Given the description of an element on the screen output the (x, y) to click on. 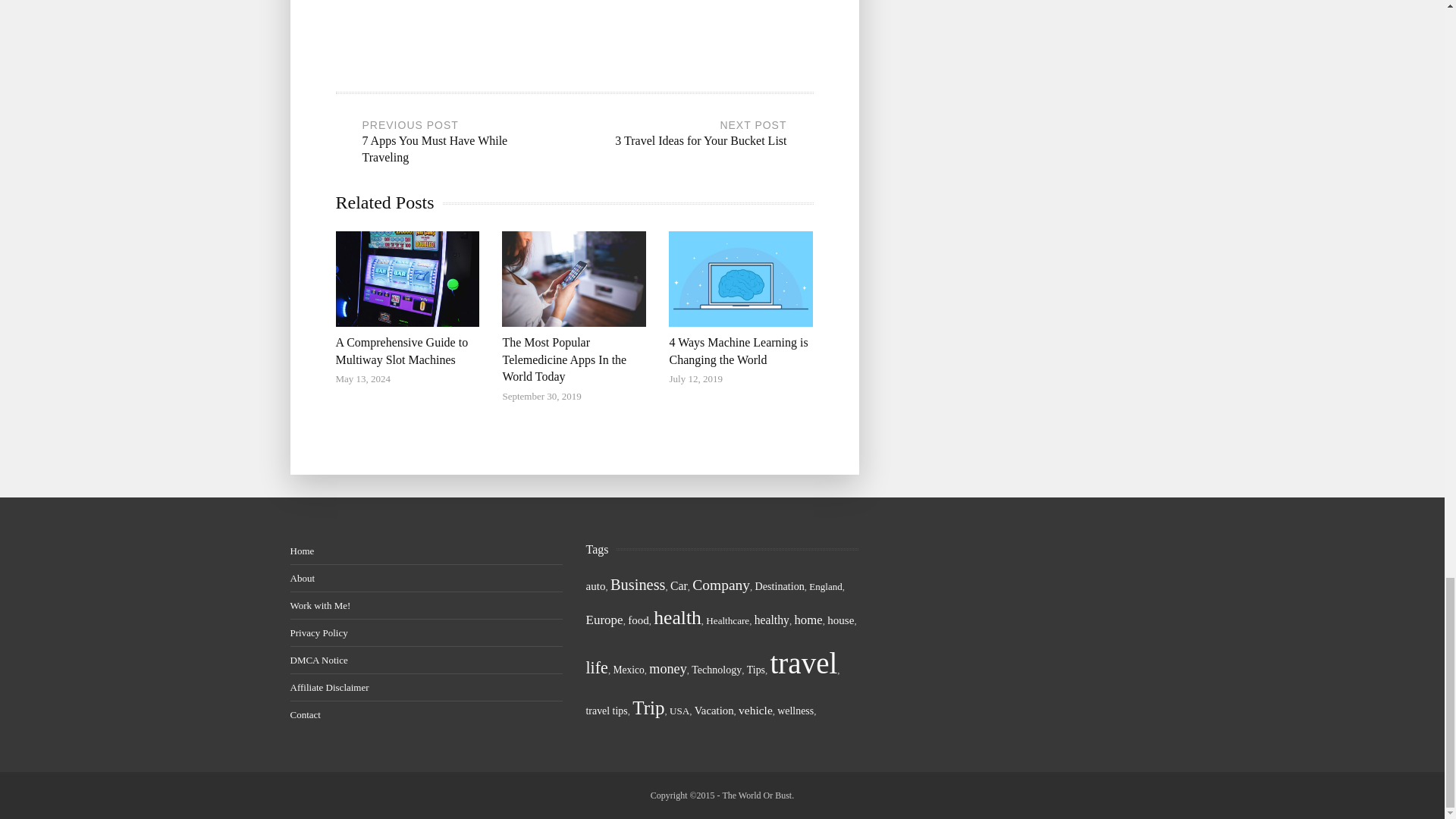
157 (596, 667)
81 (678, 585)
136 (637, 584)
81 (771, 619)
125 (721, 584)
93 (807, 619)
63 (780, 585)
55 (627, 669)
74 (595, 585)
97 (604, 619)
74 (638, 620)
49 (825, 586)
51 (727, 620)
198 (677, 617)
73 (840, 620)
